Given the description of an element on the screen output the (x, y) to click on. 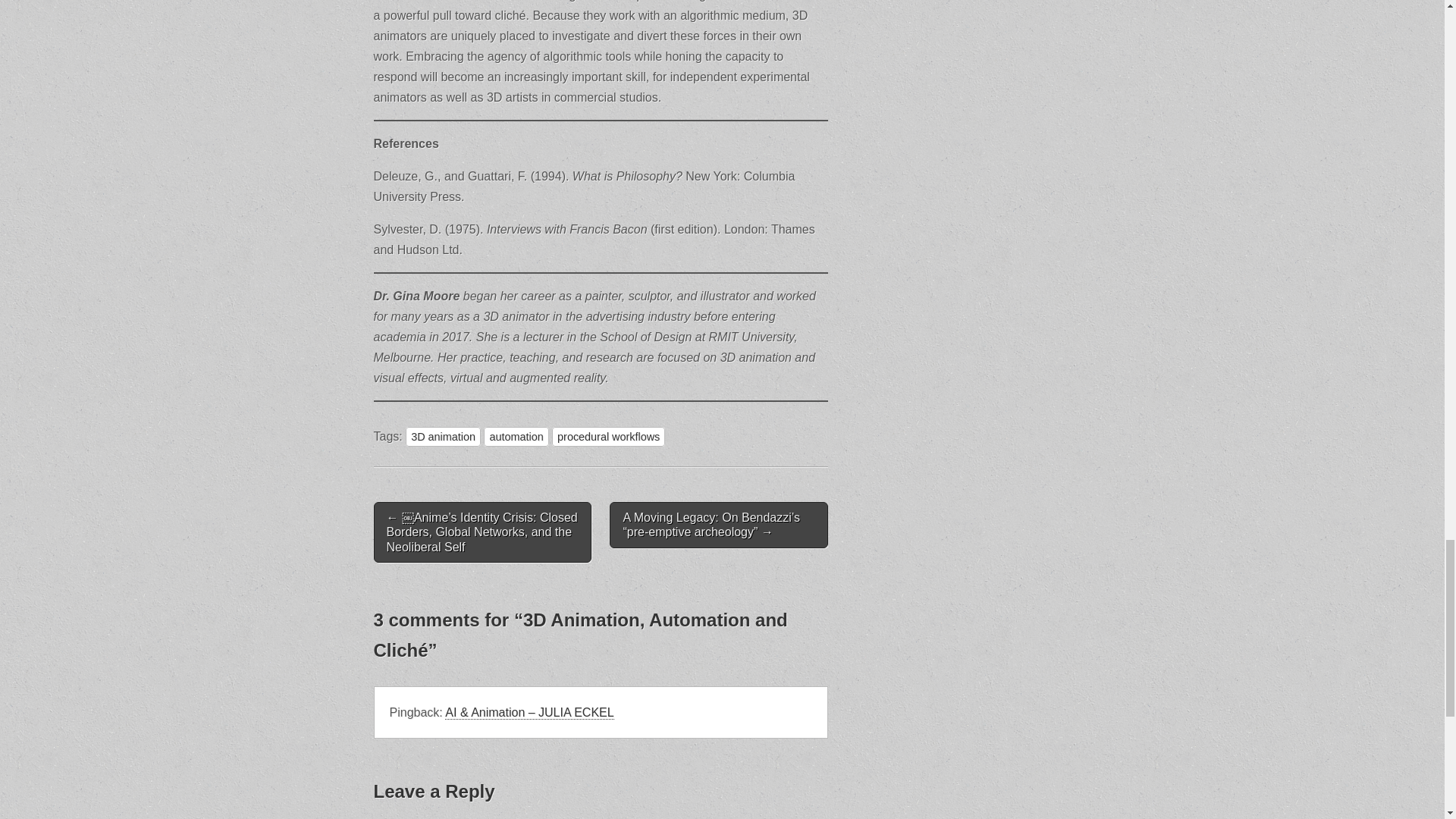
automation (515, 436)
3D animation (443, 436)
procedural workflows (608, 436)
